Given the description of an element on the screen output the (x, y) to click on. 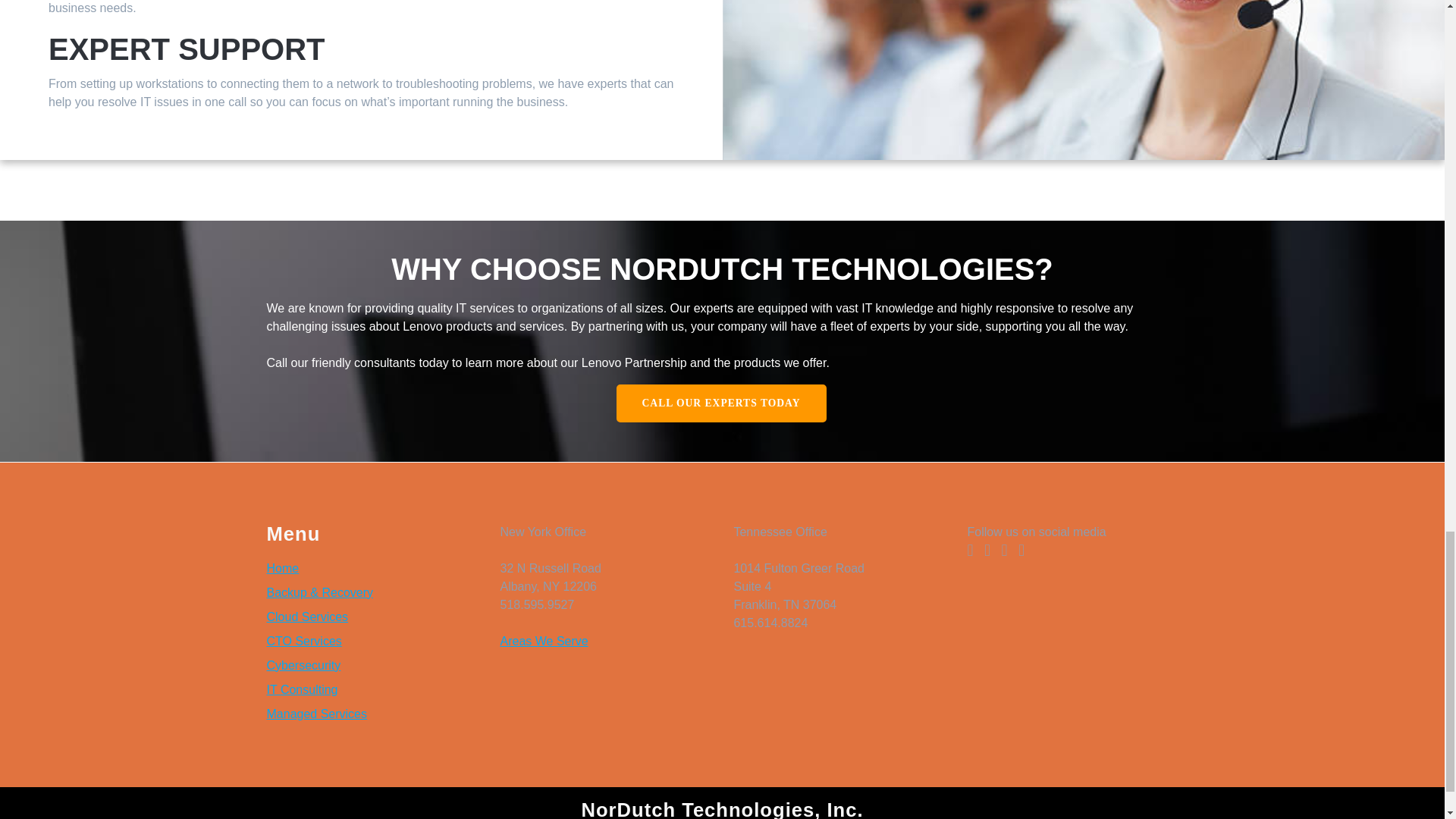
Cloud Services (307, 616)
Managed Services (317, 713)
CTO Services (304, 640)
Cybersecurity (303, 665)
Areas We Serve (543, 640)
IT Consulting (301, 689)
Home (282, 567)
CALL OUR EXPERTS TODAY (720, 403)
